Given the description of an element on the screen output the (x, y) to click on. 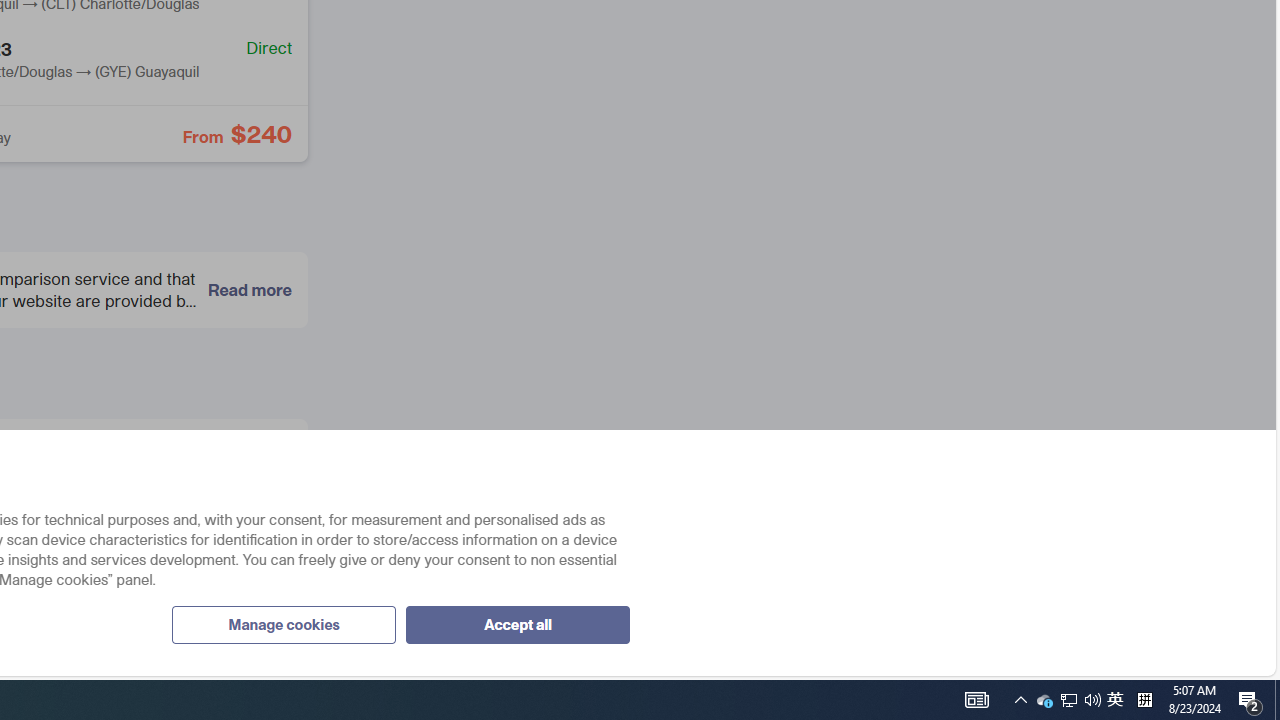
Accept all (517, 624)
Manage cookies (283, 624)
Copa Airlines Copa Airlines (144, 467)
Spirit Airlines Spirit Airlines (144, 539)
Spirit Airlines (29, 538)
Copa Airlines (29, 466)
